Given the description of an element on the screen output the (x, y) to click on. 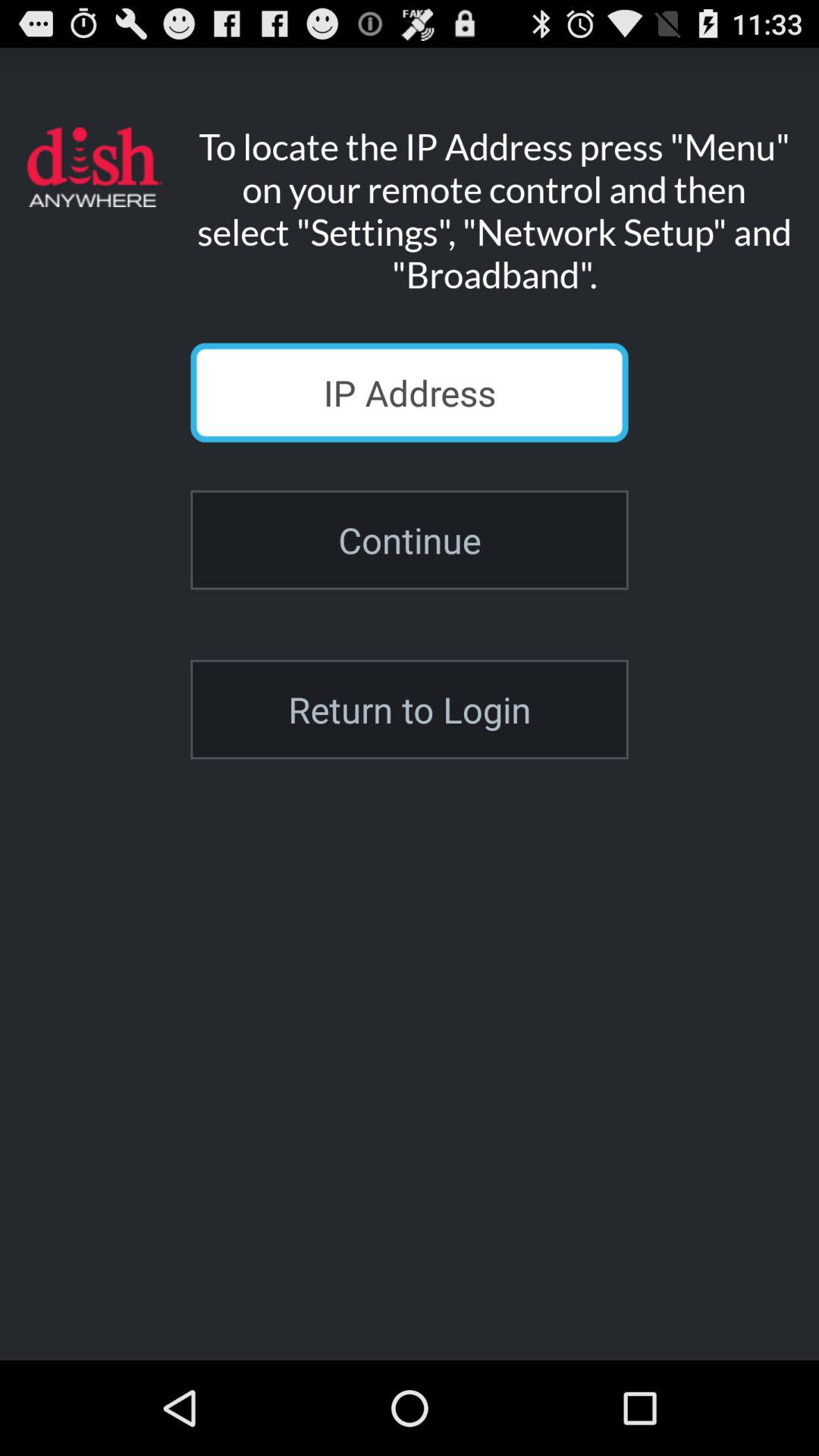
launch the return to login icon (409, 709)
